Given the description of an element on the screen output the (x, y) to click on. 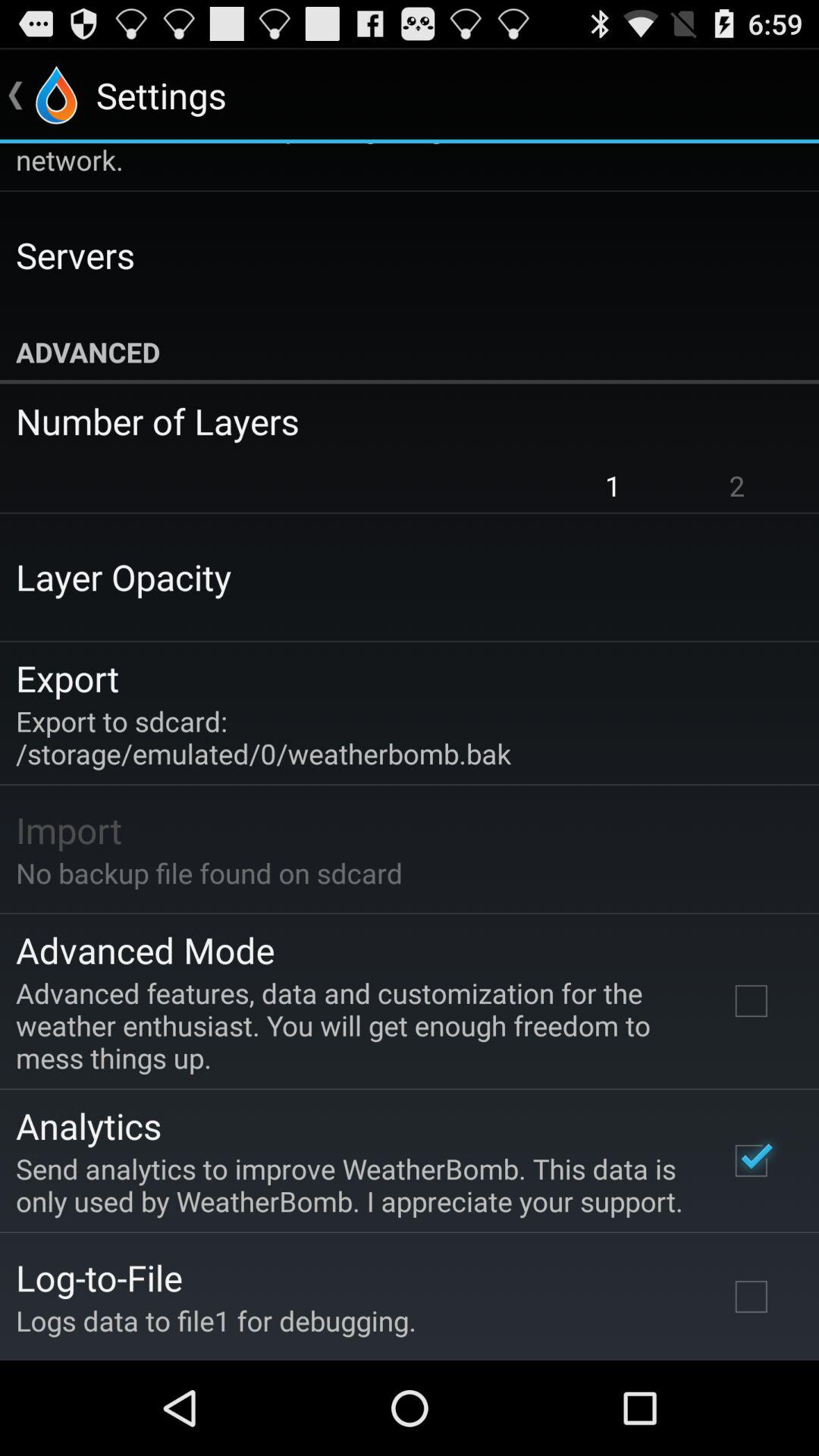
tap the export to sdcard icon (263, 737)
